Given the description of an element on the screen output the (x, y) to click on. 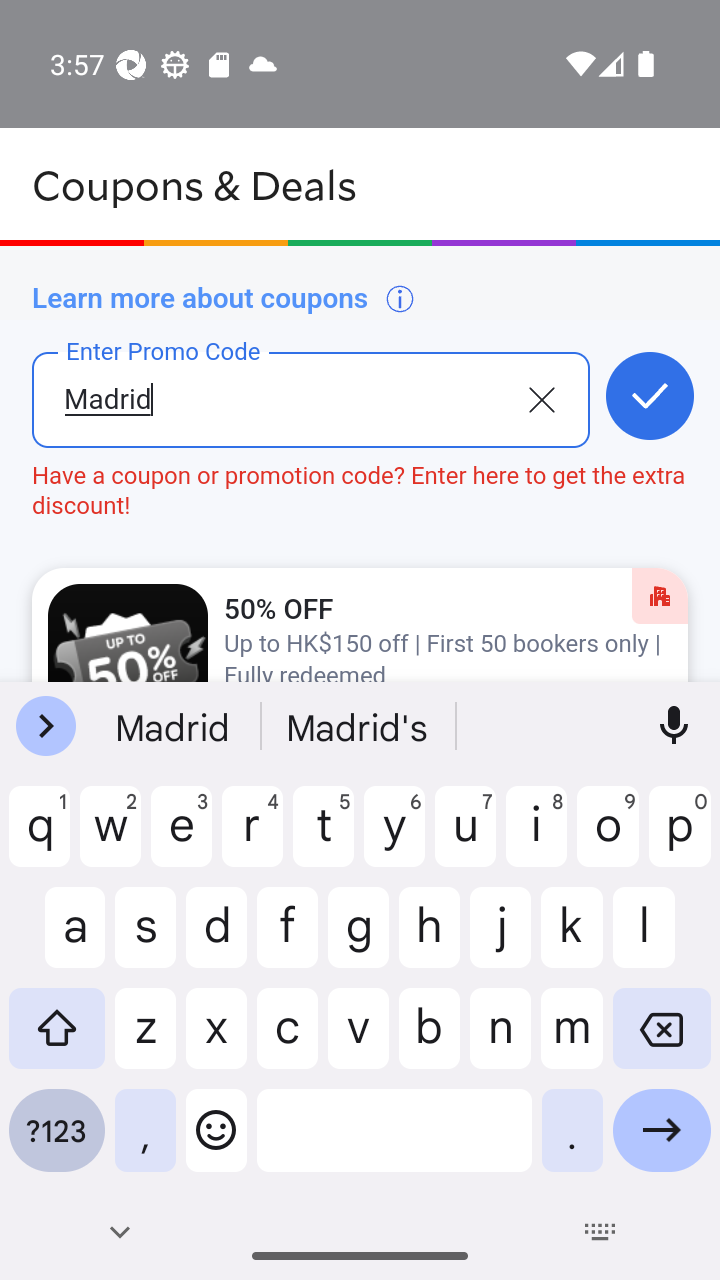
Learn more about coupons (224, 298)
Madrid (278, 415)
Clear (541, 398)
